Given the description of an element on the screen output the (x, y) to click on. 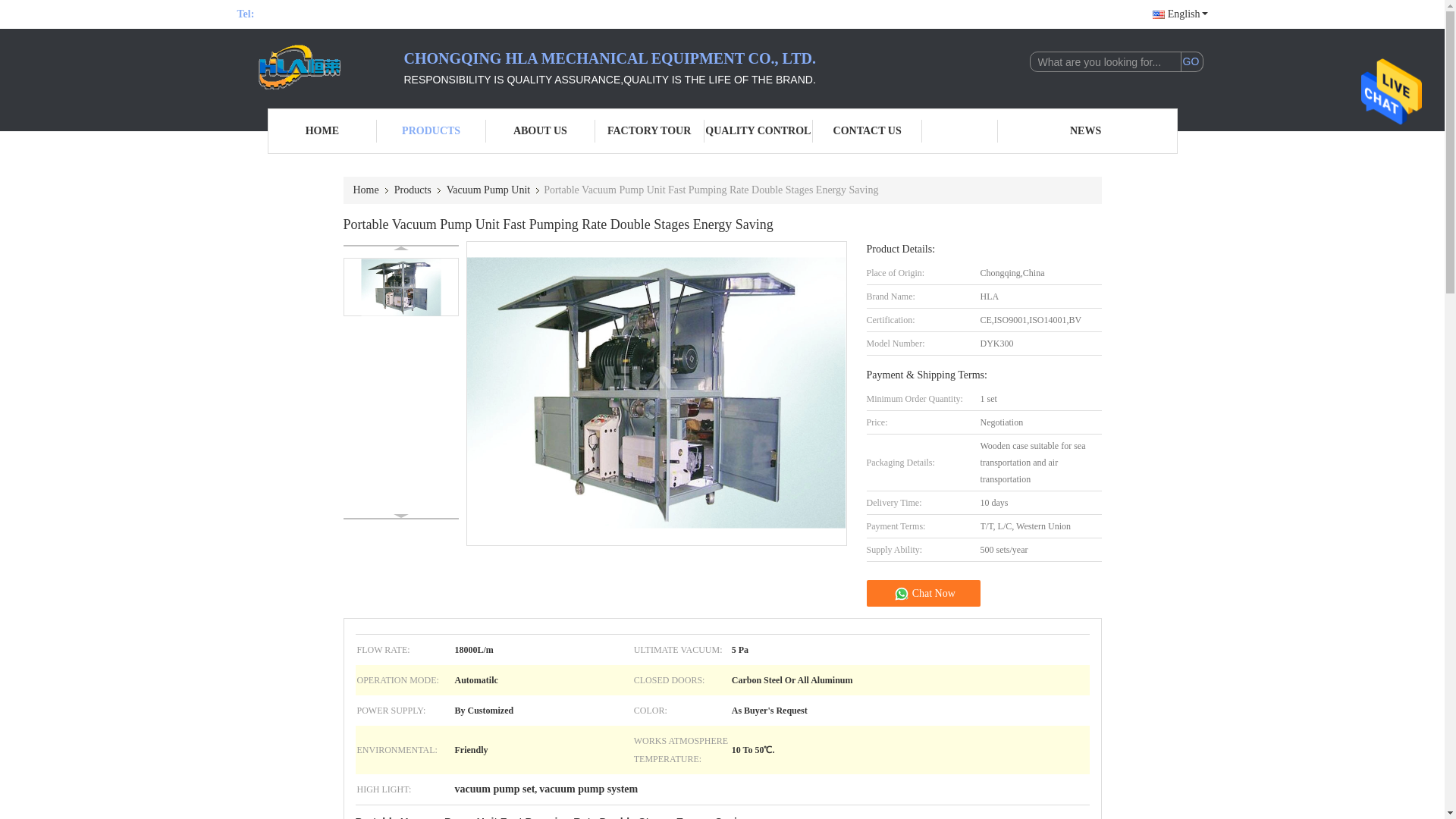
English (1180, 14)
HOME (322, 130)
GO (1190, 61)
PRODUCTS (431, 130)
GO (1190, 61)
Chat Now (1120, 14)
